Given the description of an element on the screen output the (x, y) to click on. 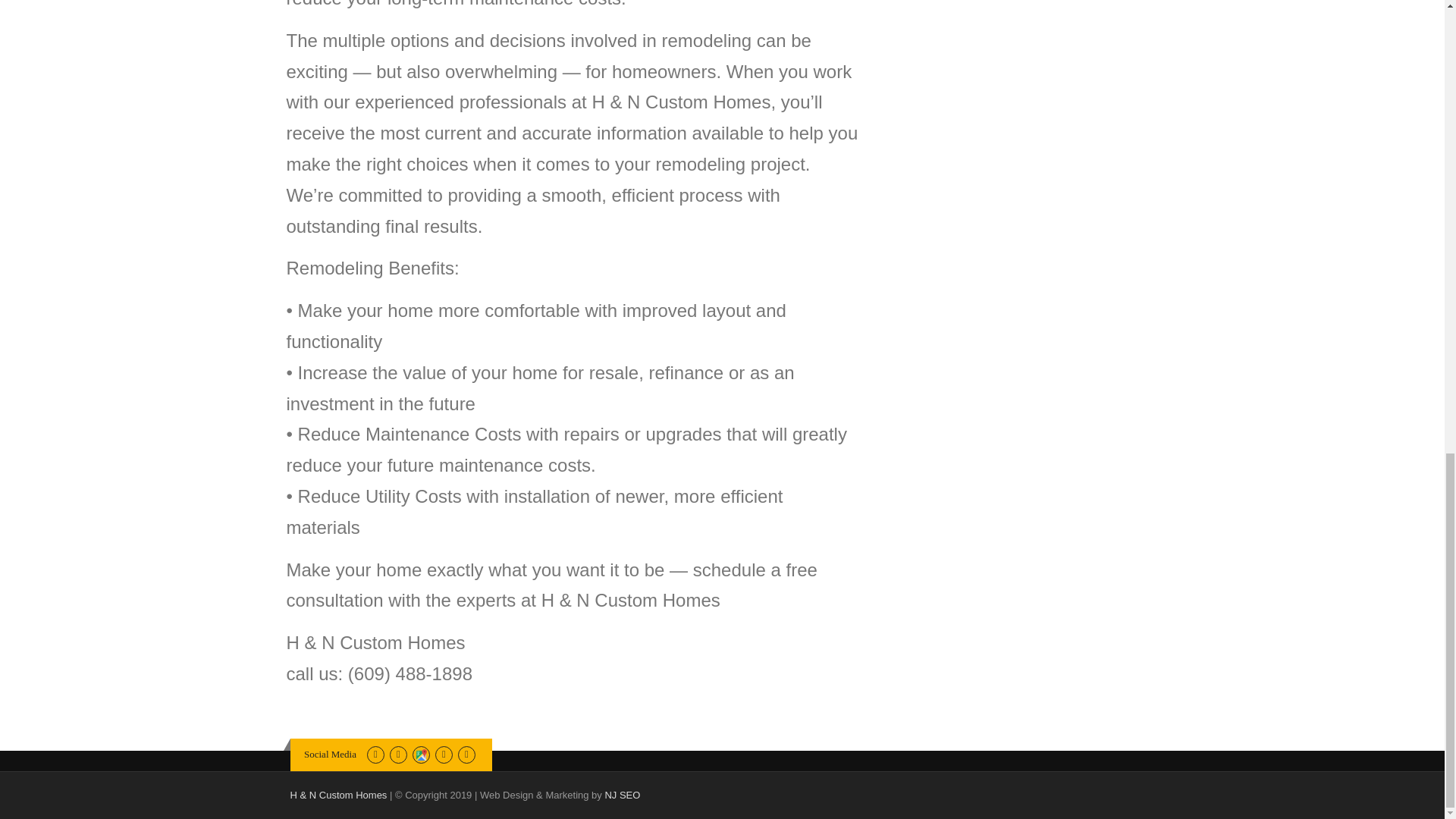
Yelp (467, 754)
Facebook (375, 754)
NJ SEO (622, 794)
Pinterest (398, 754)
Google Plus (420, 754)
Instagram (443, 754)
